Given the description of an element on the screen output the (x, y) to click on. 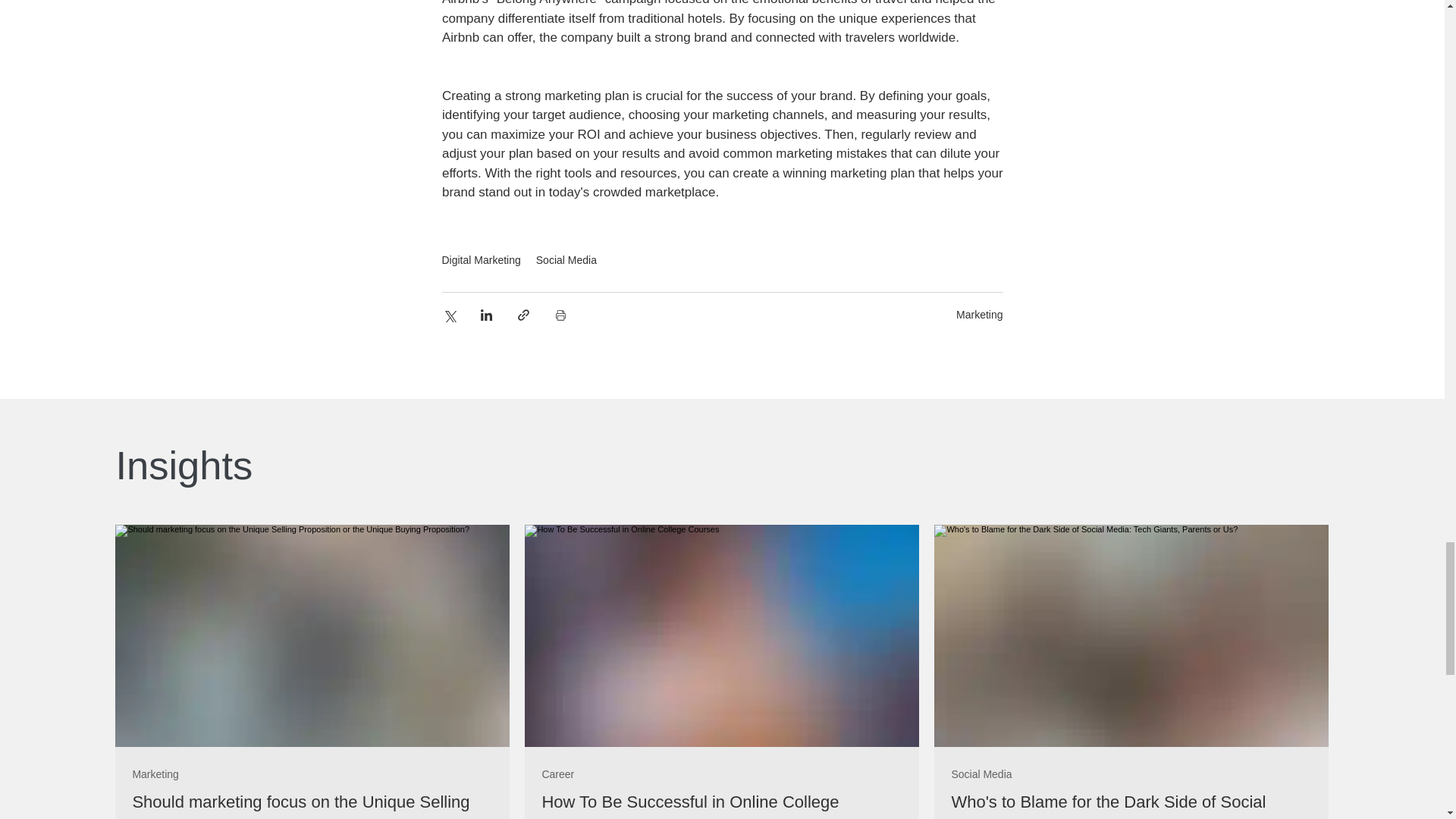
Social Media (980, 774)
Social Media (565, 259)
How To Be Successful in Online College Courses (721, 805)
Career (557, 774)
Digital Marketing (480, 259)
Marketing (979, 314)
Marketing (154, 774)
